Given the description of an element on the screen output the (x, y) to click on. 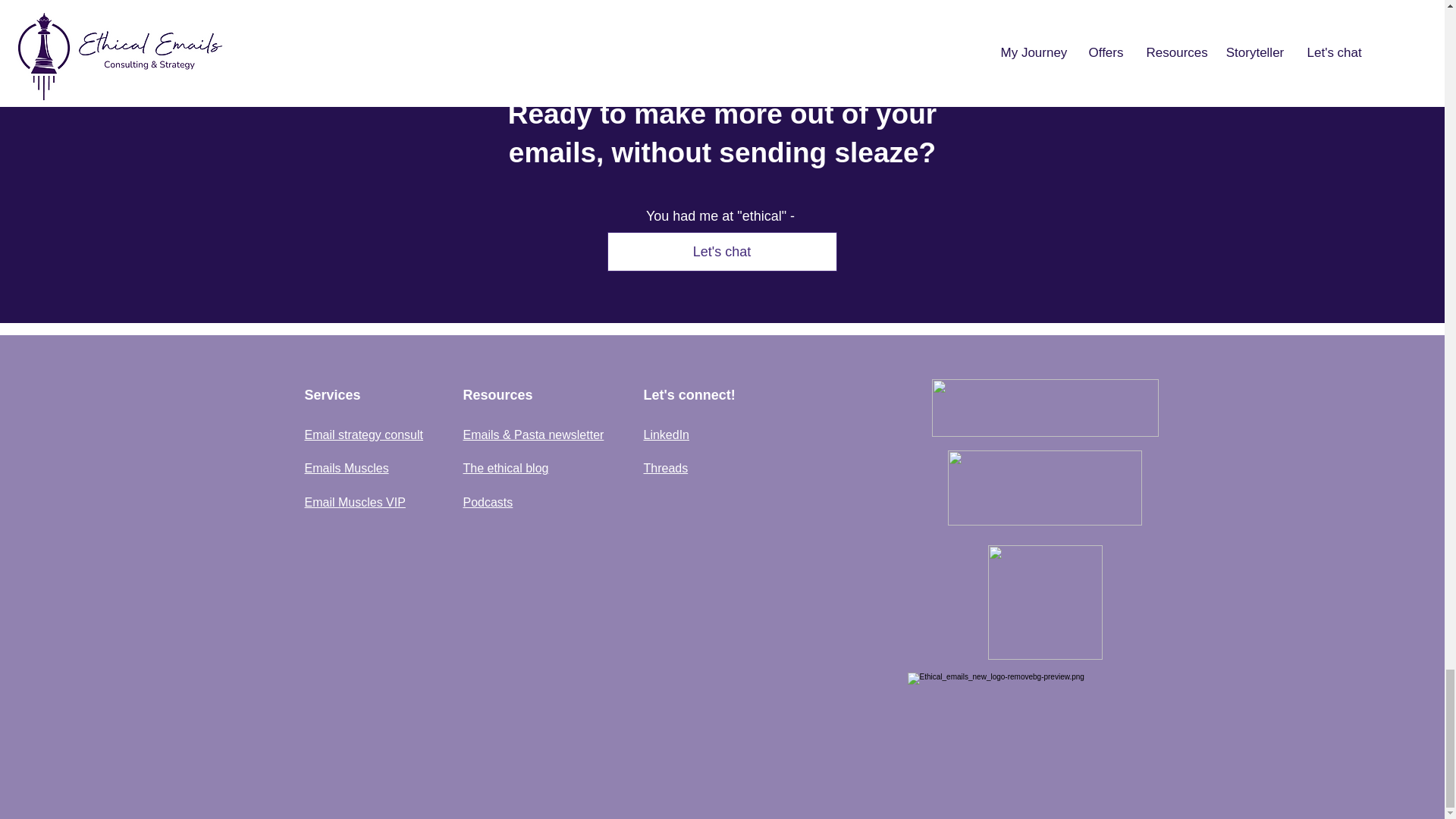
Emails Muscles (346, 468)
LinkedIn (665, 434)
Podcasts (487, 502)
Email strategy consult (363, 434)
Let's chat (721, 251)
The ethical blog (505, 468)
Email Muscles VIP (355, 502)
